Given the description of an element on the screen output the (x, y) to click on. 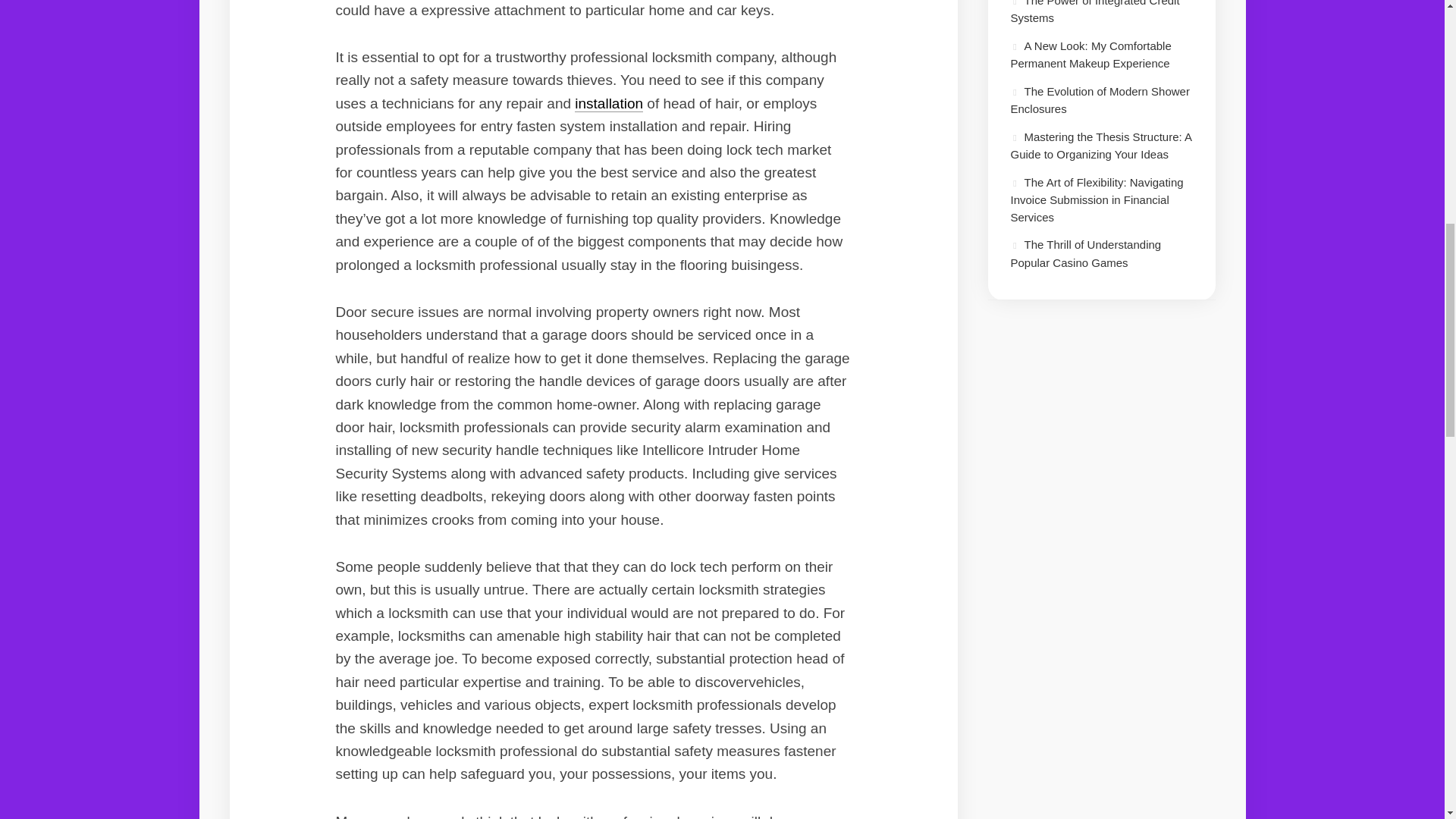
The Evolution of Modern Shower Enclosures (1099, 100)
A New Look: My Comfortable Permanent Makeup Experience (1090, 54)
installation (609, 103)
The Power of Integrated Credit Systems (1094, 12)
The Thrill of Understanding Popular Casino Games (1085, 253)
